Given the description of an element on the screen output the (x, y) to click on. 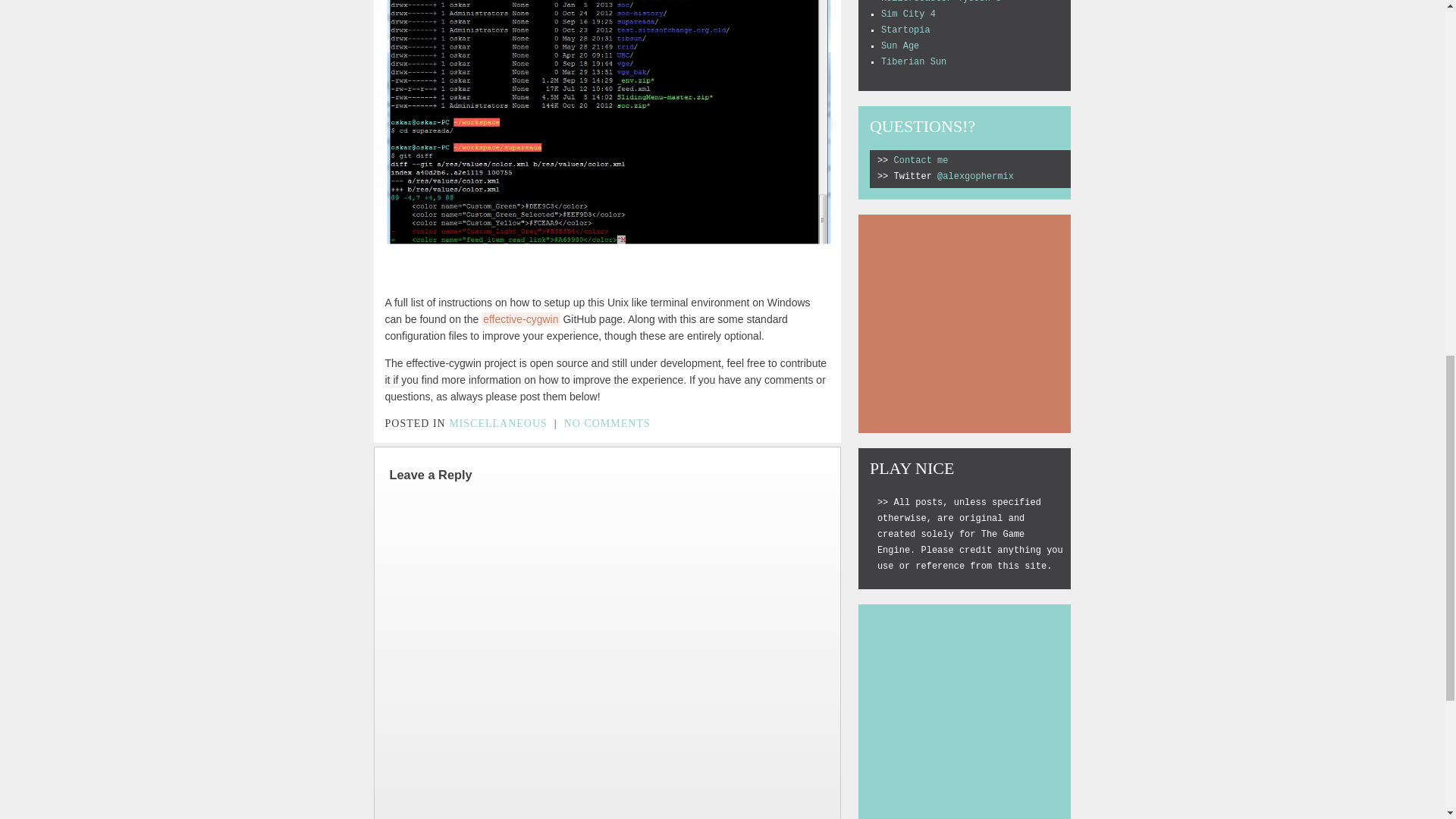
Sim City 4 (908, 14)
effective-cygwin (520, 318)
Tiberian Sun (913, 61)
Rollercoaster Tycoon 3 (940, 2)
NO COMMENTS (607, 422)
Sun Age (899, 45)
MISCELLANEOUS (497, 422)
Startopia (905, 30)
Contact me (920, 160)
